Given the description of an element on the screen output the (x, y) to click on. 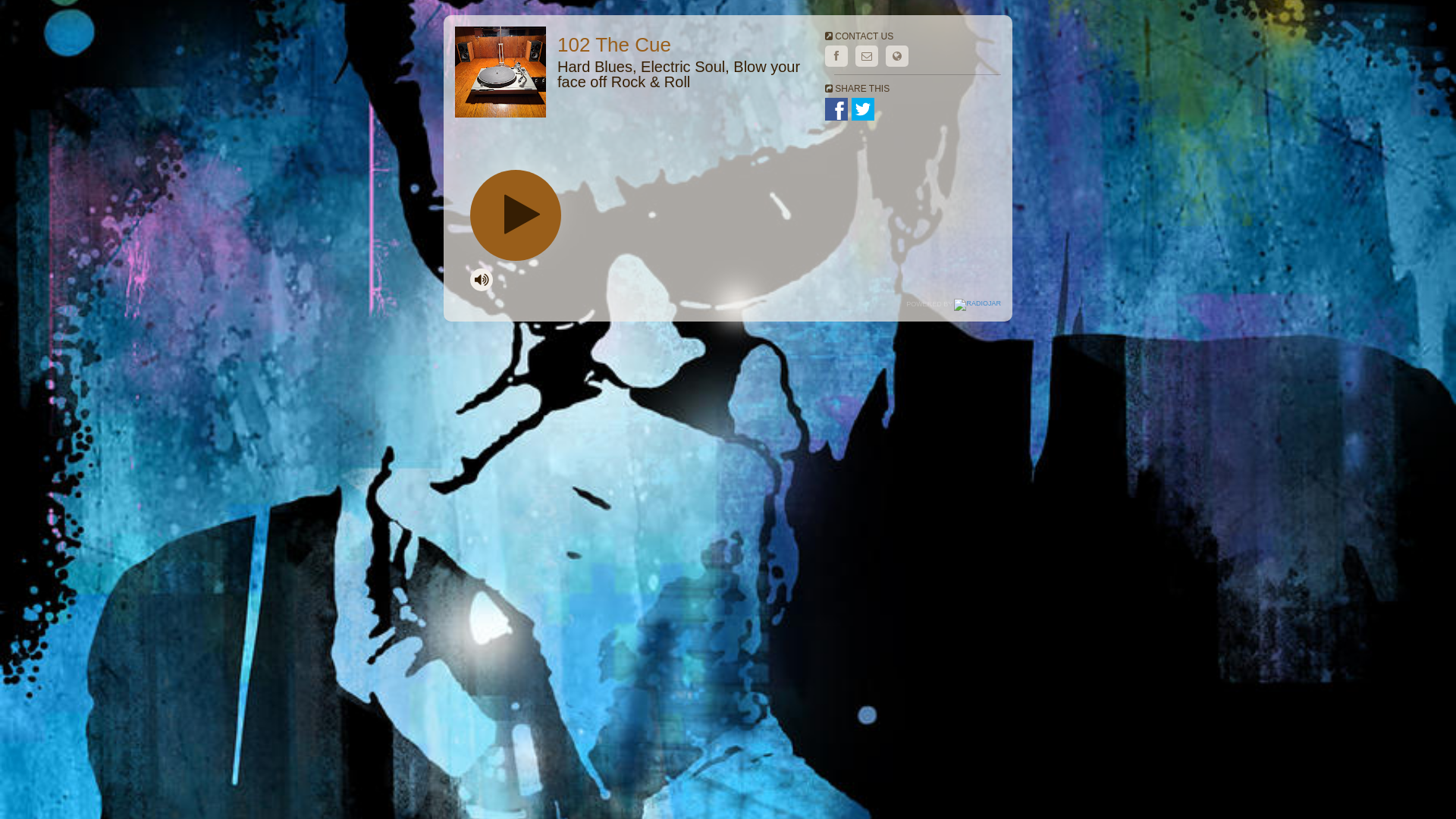
  Element type: text (515, 214)
Play Element type: hover (515, 214)
Mute Element type: hover (481, 279)
